Given the description of an element on the screen output the (x, y) to click on. 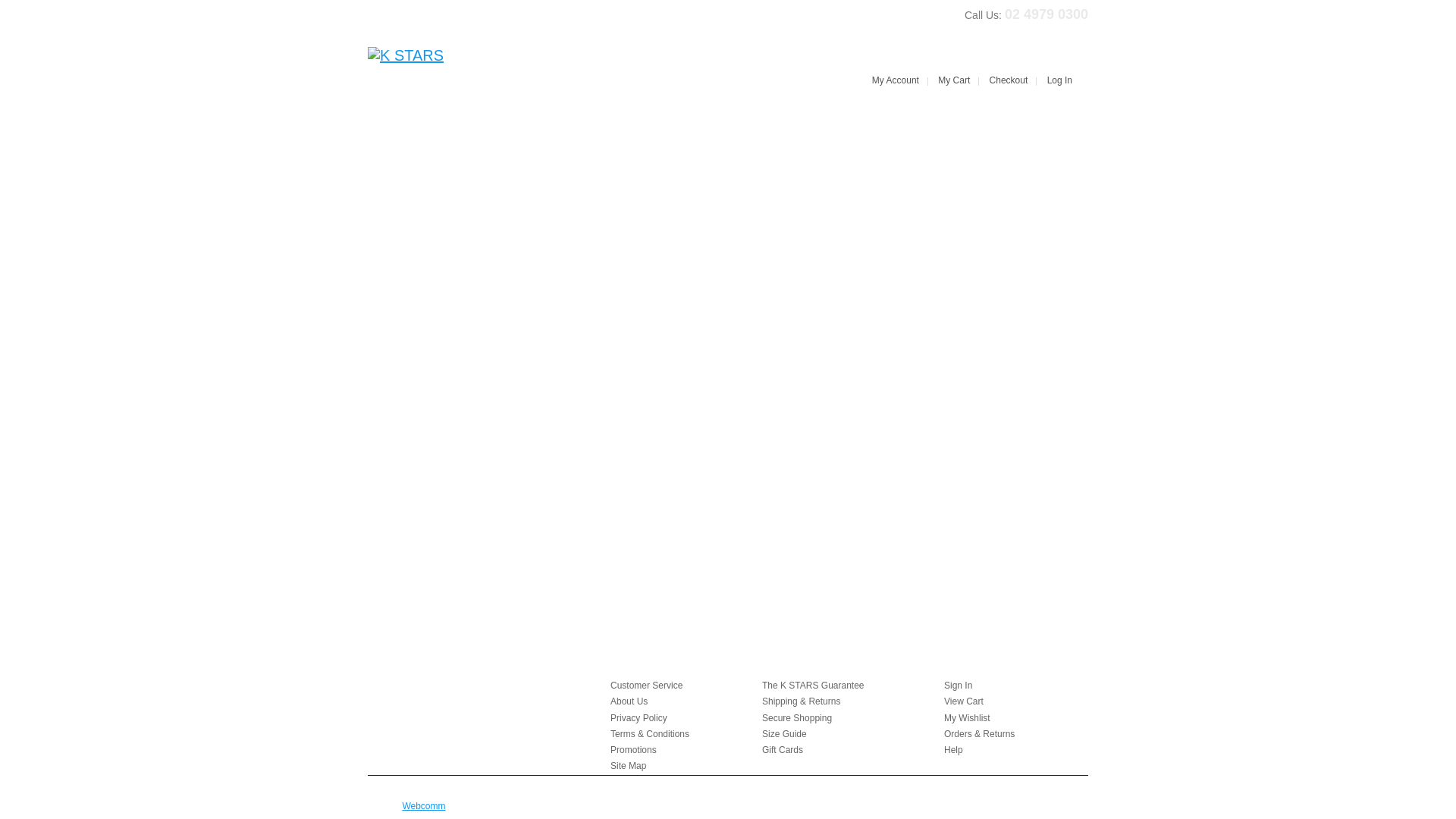
Search Element type: hover (681, 82)
Site Map Element type: text (628, 765)
Promotions Element type: text (633, 749)
My Cart Element type: text (953, 80)
Webcomm Element type: text (423, 805)
My Wishlist Element type: text (967, 717)
Sign up for our newsletter Element type: hover (704, 310)
About Us Element type: text (628, 701)
Gift Cards Element type: text (782, 749)
Sign In Element type: text (958, 685)
Privacy Policy Element type: text (638, 717)
Size Guide Element type: text (784, 733)
Under Construction Element type: text (427, 143)
Shipping & Returns Element type: text (801, 701)
Secure Shopping Element type: text (796, 717)
Subscribe Element type: hover (801, 310)
Customer Service Element type: text (646, 685)
Terms & Conditions Element type: text (649, 733)
Orders & Returns Element type: text (979, 733)
Checkout Element type: text (1008, 80)
My Account Element type: text (895, 80)
K STARS Element type: hover (405, 55)
Log In Element type: text (1059, 80)
View Cart Element type: text (963, 701)
The K STARS Guarantee Element type: text (813, 685)
Help Element type: text (953, 749)
